Given the description of an element on the screen output the (x, y) to click on. 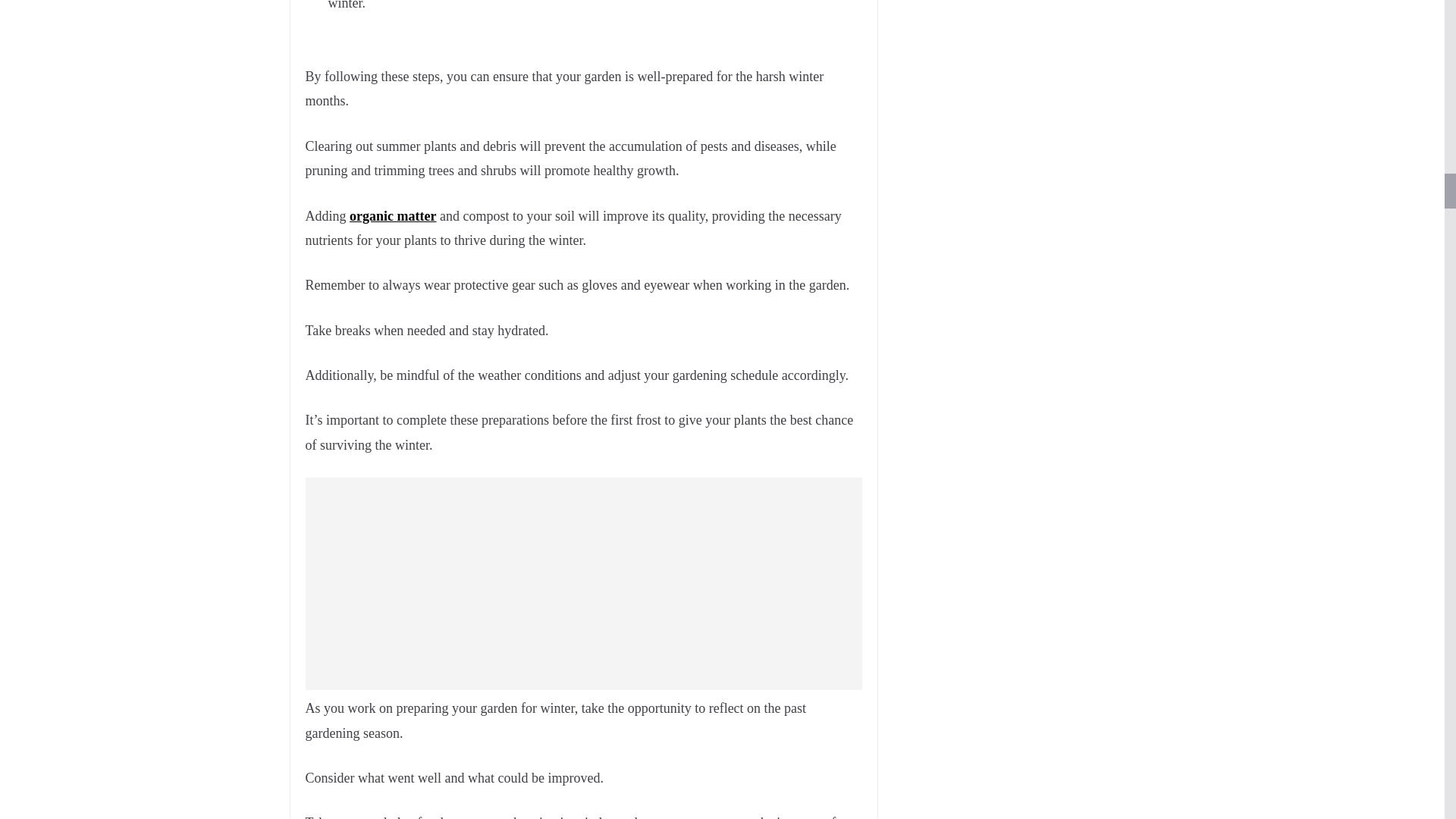
organic matter (392, 215)
